Given the description of an element on the screen output the (x, y) to click on. 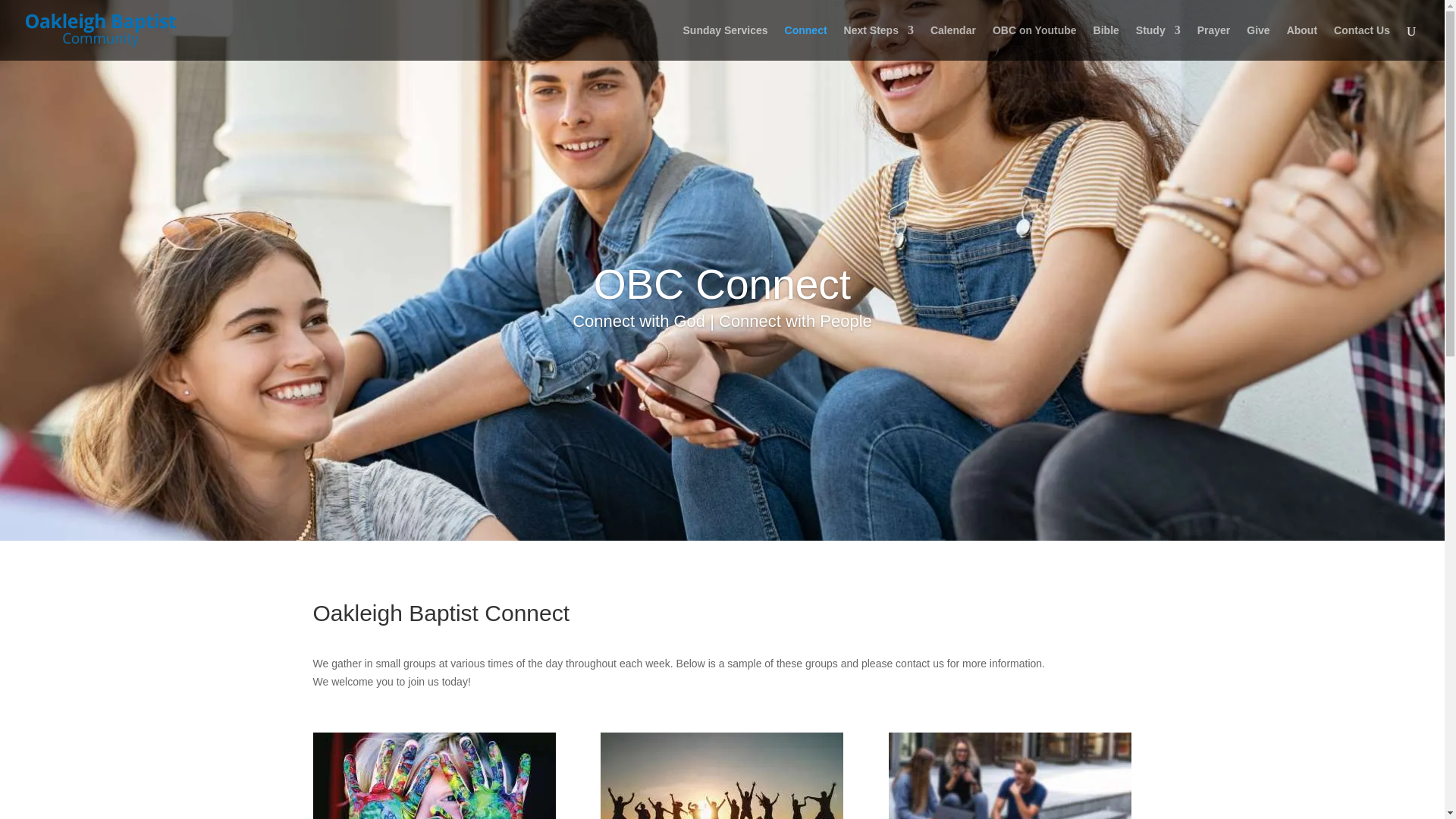
Next Steps (879, 42)
Calendar (952, 42)
Young Adults Group (1009, 775)
Prayer (1213, 42)
Study (1157, 42)
Youth Group (721, 775)
Contact Us (1361, 42)
Sunday Services (725, 42)
Connect (805, 42)
OBC on Youtube (1034, 42)
Kids Church (433, 775)
